Given the description of an element on the screen output the (x, y) to click on. 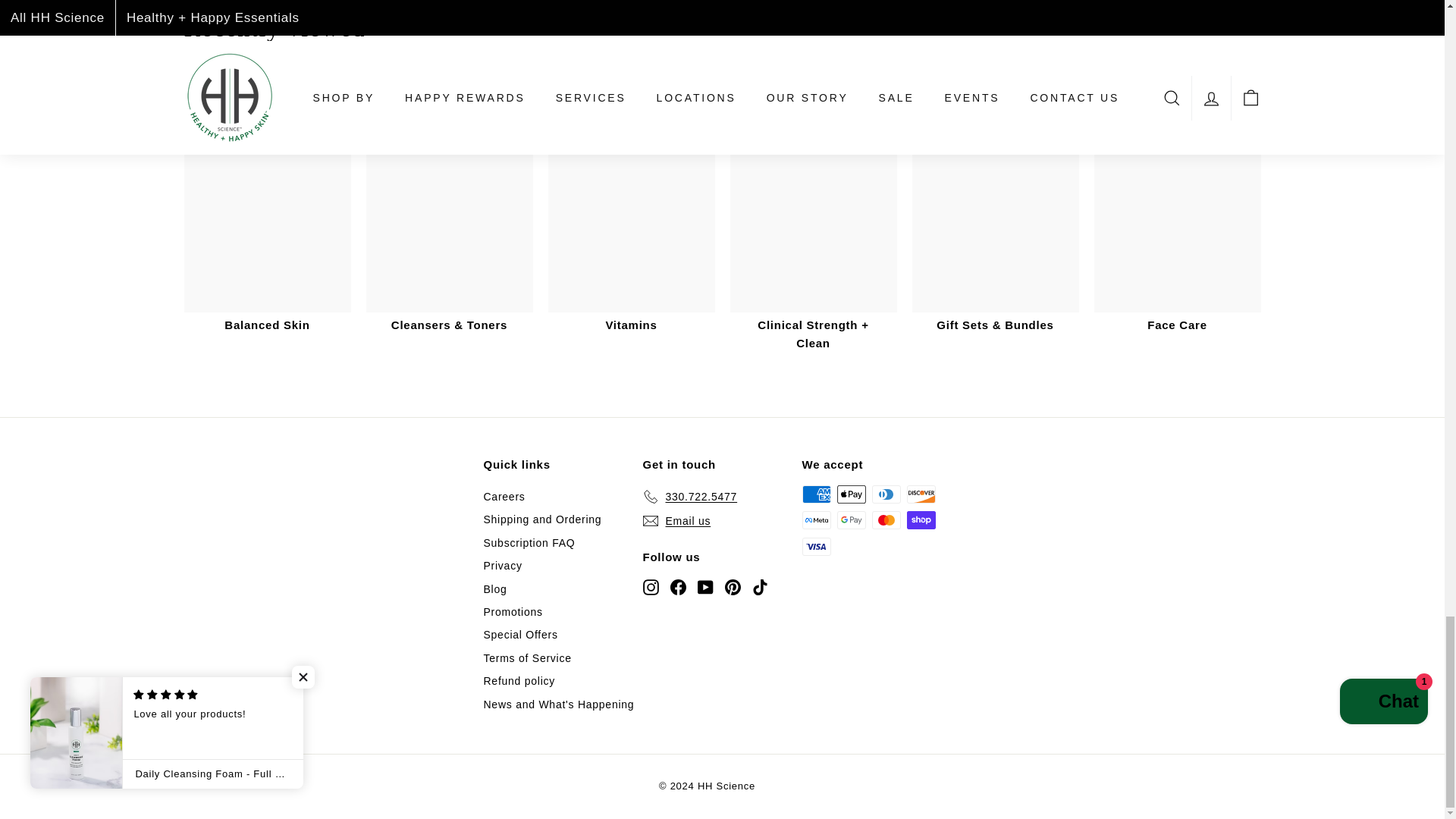
American Express (816, 494)
